Given the description of an element on the screen output the (x, y) to click on. 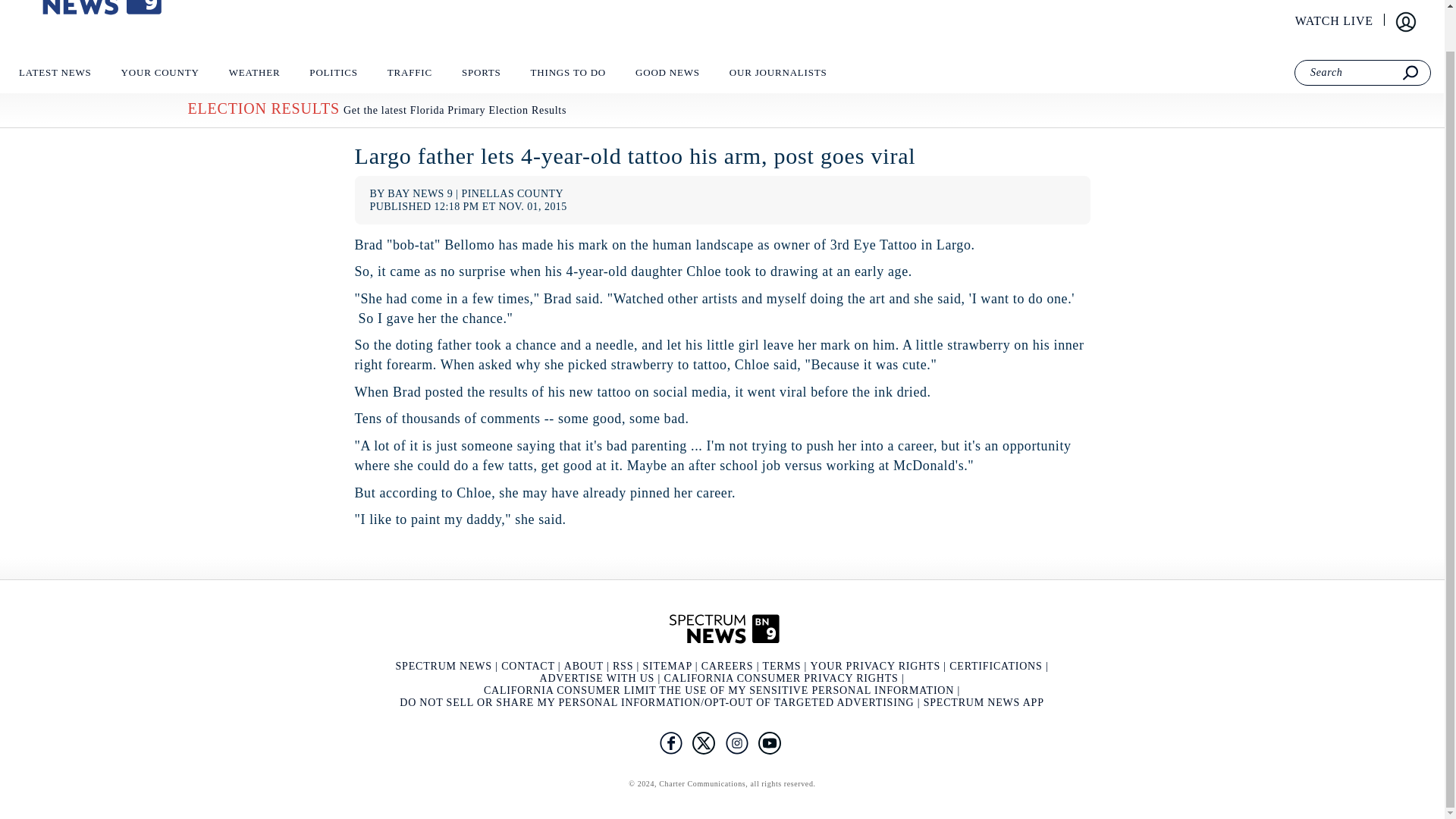
WATCH LIVE (1334, 21)
YOUR COUNTY (160, 76)
LATEST NEWS (55, 76)
